Given the description of an element on the screen output the (x, y) to click on. 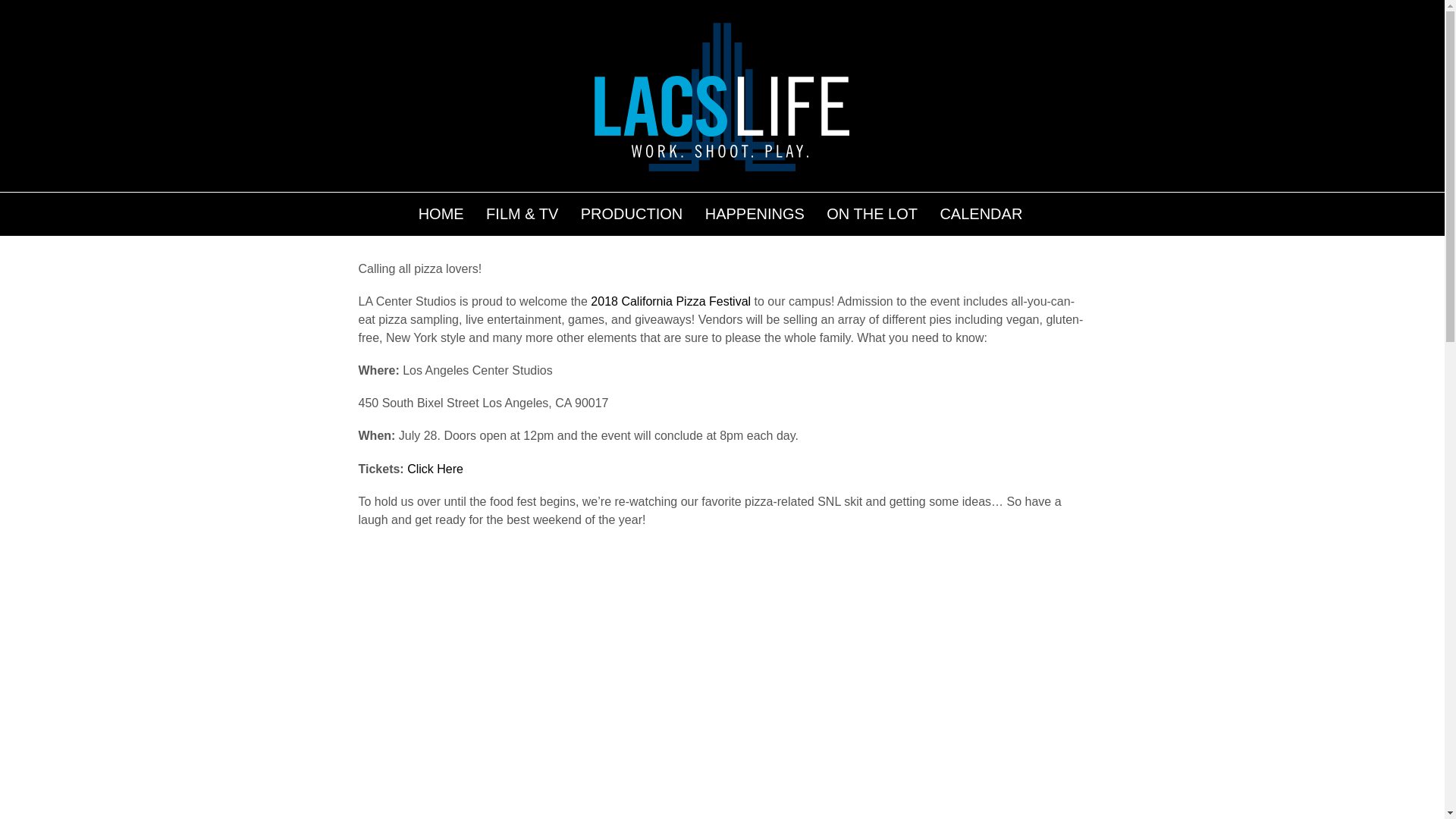
CALENDAR (980, 210)
ON THE LOT (871, 210)
HOME (441, 210)
Happenings (726, 209)
HAPPENINGS (754, 210)
Events at LACS (659, 209)
Posts (773, 209)
PRODUCTION (631, 210)
Click Here (435, 468)
2018 California Pizza Festival (671, 300)
